Given the description of an element on the screen output the (x, y) to click on. 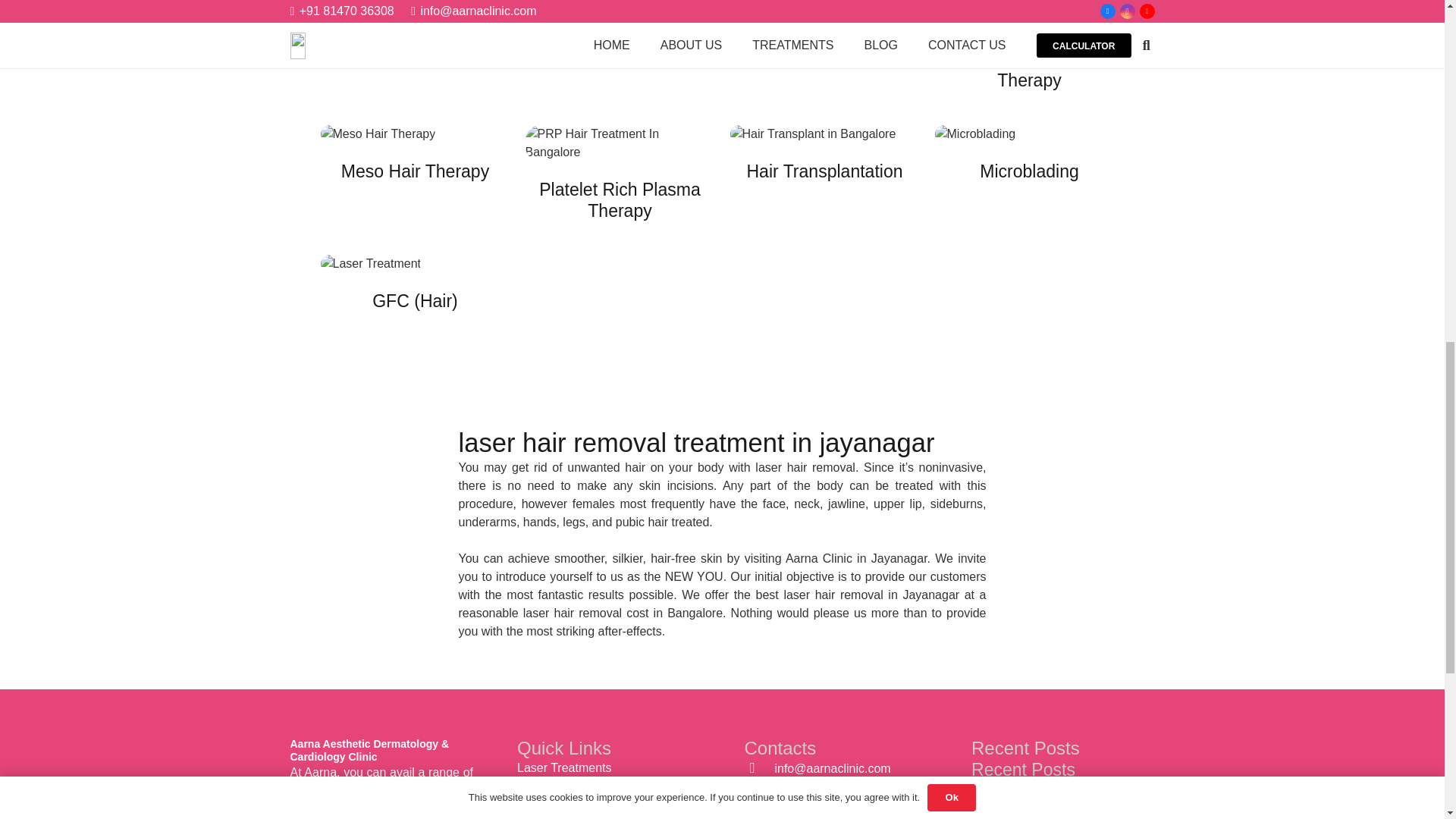
Mesotherapy Hair Treatment (414, 182)
Microblading Treatment (1029, 182)
Diffuse Hair Loss (823, 61)
Anti Dandruff Treatment (414, 61)
Hair Fall Treatment in Bangalore (619, 61)
low level laser therapy hair loss (1029, 61)
Laser Hair Removal Treatment (414, 292)
Hair Transplantation Clinics (823, 182)
Platelet Rich Plasma Therapy (619, 182)
